Given the description of an element on the screen output the (x, y) to click on. 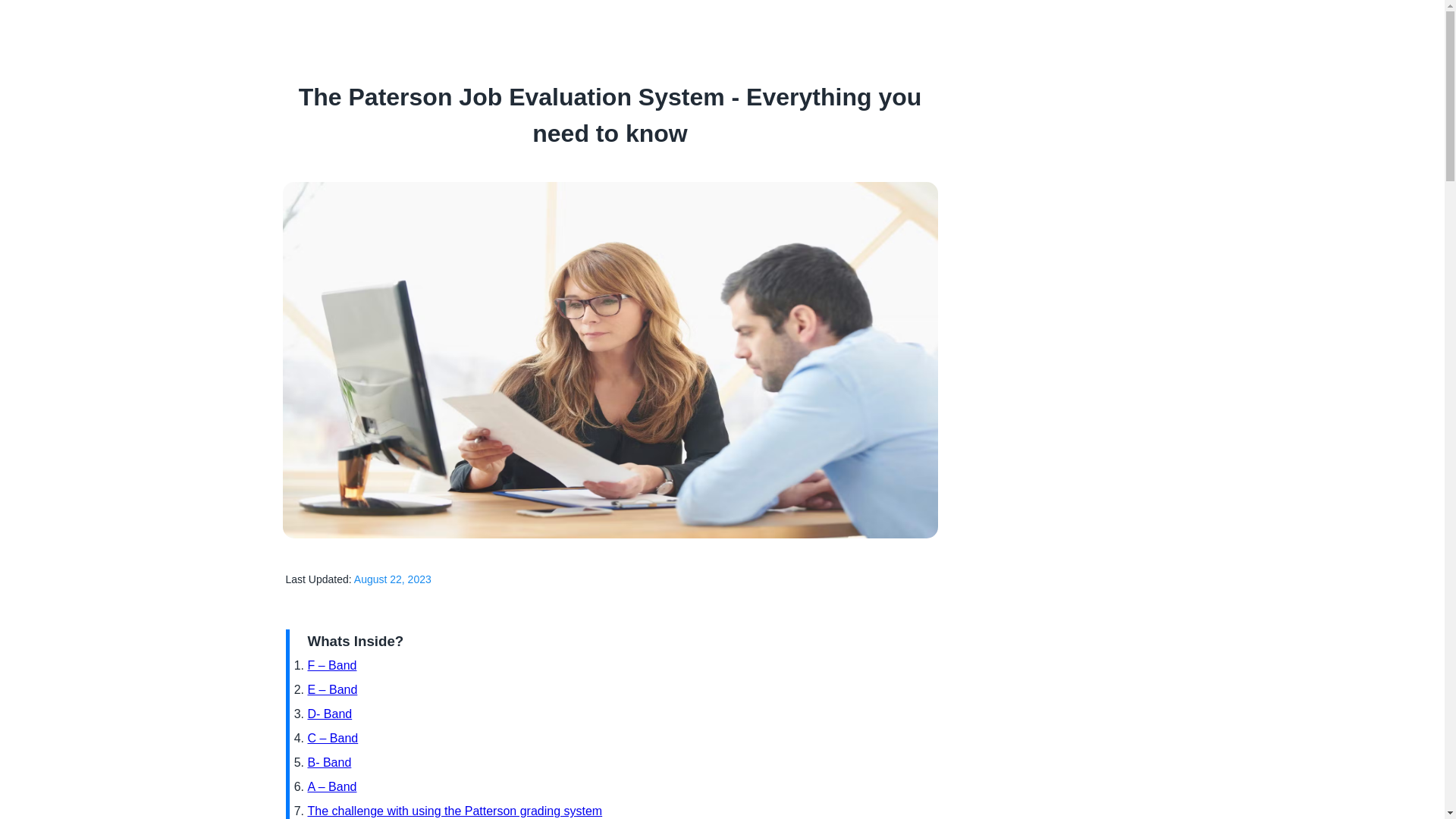
The challenge with using the Patterson grading system (454, 810)
D- Band (329, 713)
B- Band (329, 762)
